Given the description of an element on the screen output the (x, y) to click on. 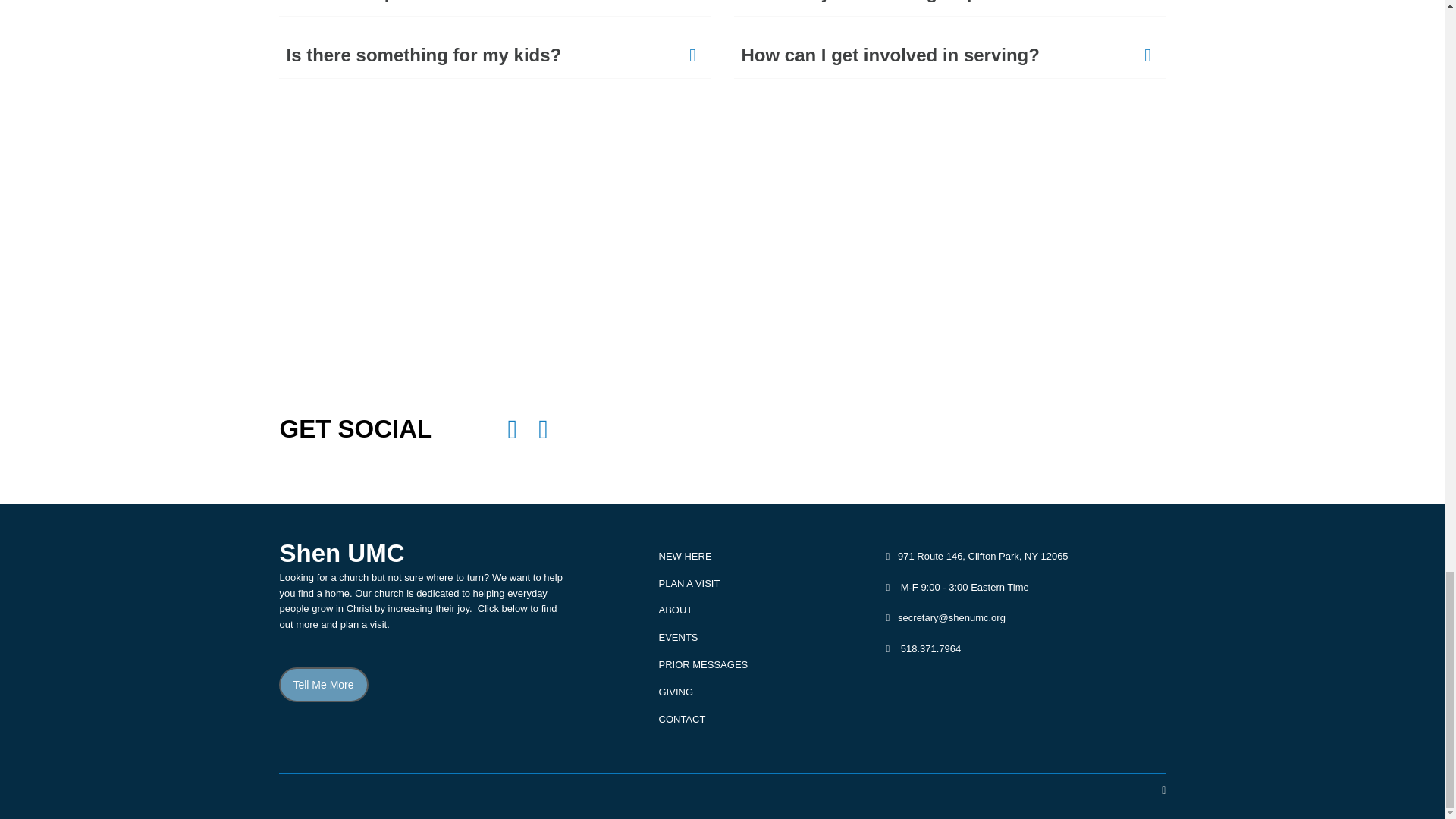
NEW HERE (684, 555)
Tell Me More (323, 684)
PLAN A VISIT (688, 583)
